Given the description of an element on the screen output the (x, y) to click on. 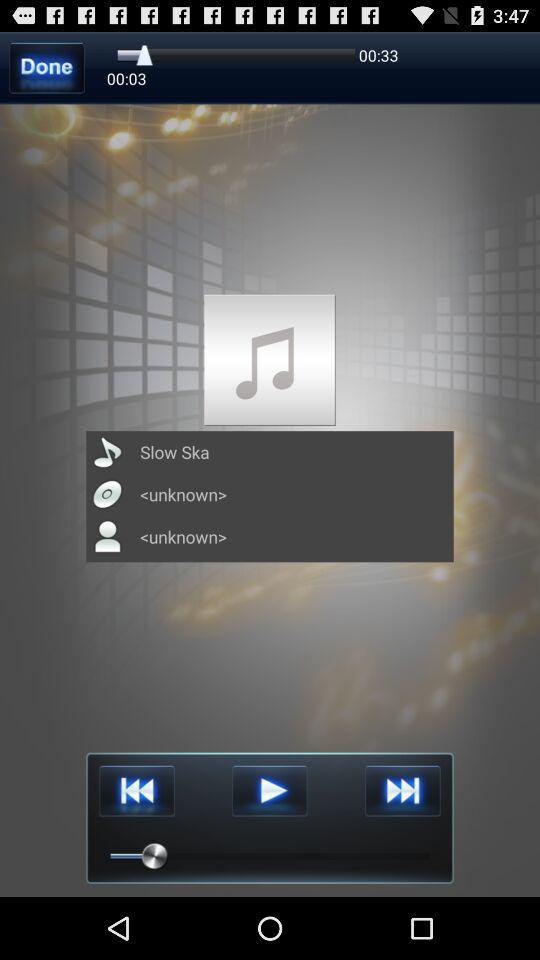
click to next play button (402, 790)
